Given the description of an element on the screen output the (x, y) to click on. 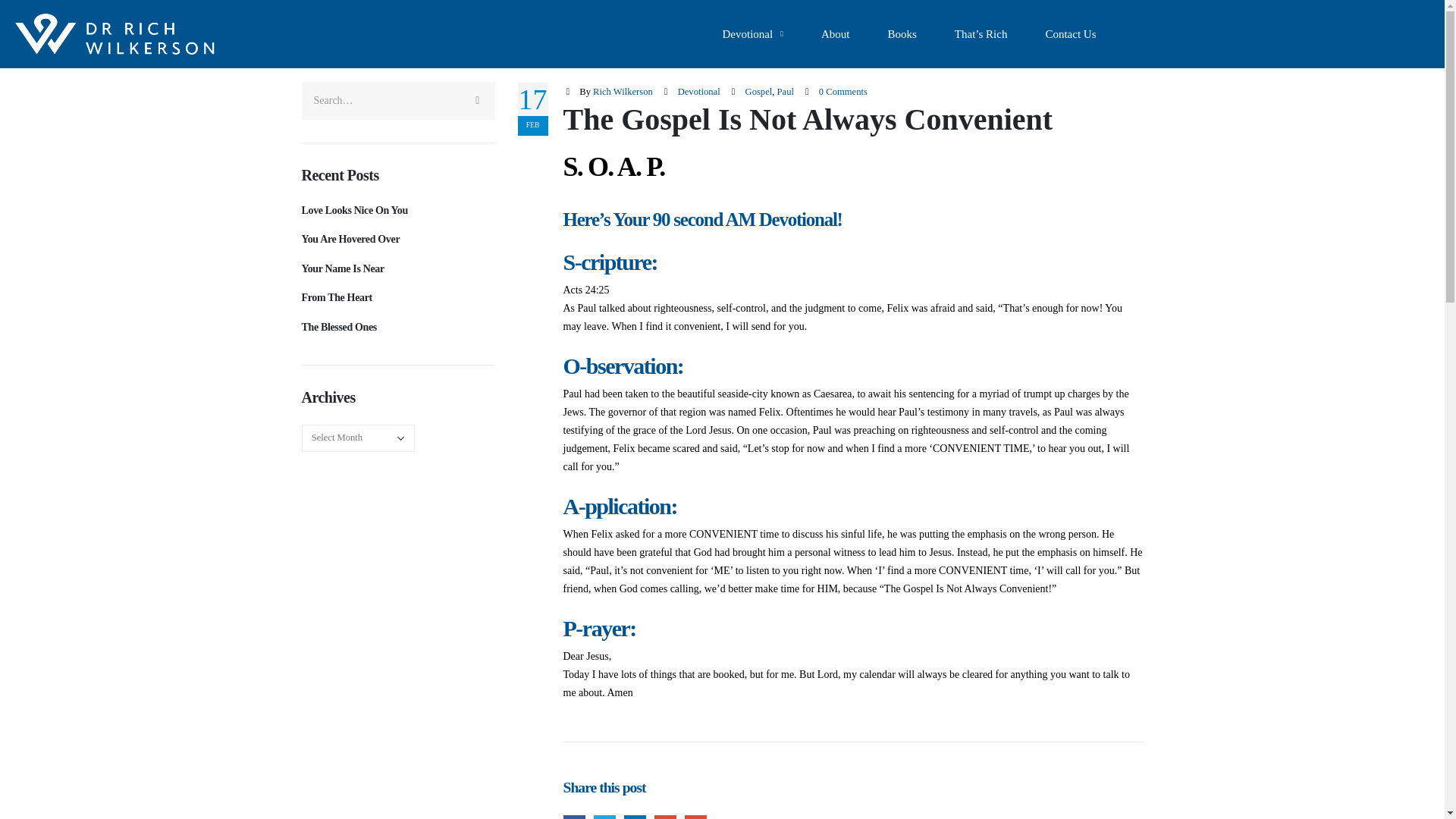
LinkedIn (635, 816)
Devotional (752, 33)
0 Comments (842, 91)
Paul (785, 91)
Devotional (699, 91)
Email (695, 816)
Posts by Rich Wilkerson (622, 91)
Rich Wilkerson (622, 91)
Gospel (759, 91)
Twitter (604, 816)
Facebook (573, 816)
0 Comments (842, 91)
